Given the description of an element on the screen output the (x, y) to click on. 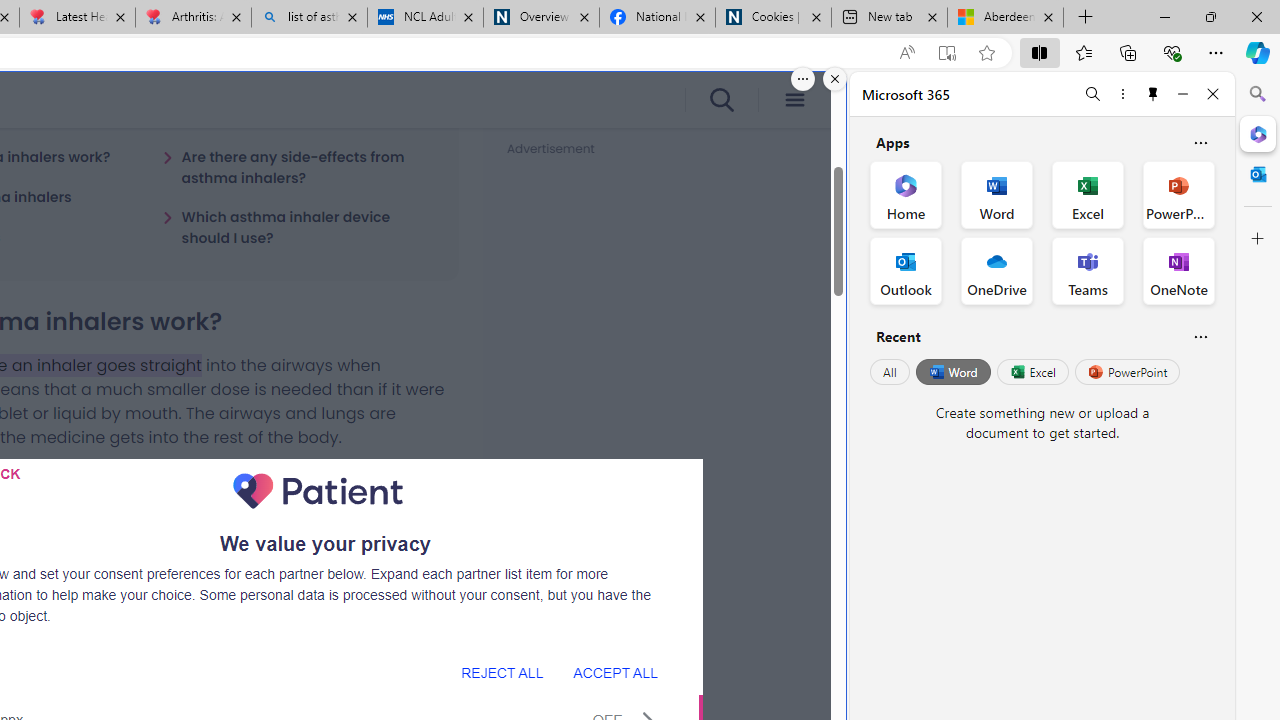
All (890, 372)
Split screen (1039, 52)
Minimize (1182, 93)
Teams Office App (1087, 270)
REJECT ALL (502, 672)
list of asthma inhalers uk - Search (309, 17)
Are there any side-effects from asthma inhalers? (298, 167)
Close split screen. (835, 79)
Is this helpful? (1200, 336)
PowerPoint Office App (1178, 194)
Home Office App (906, 194)
Word Office App (996, 194)
ACCEPT ALL (615, 672)
